Given the description of an element on the screen output the (x, y) to click on. 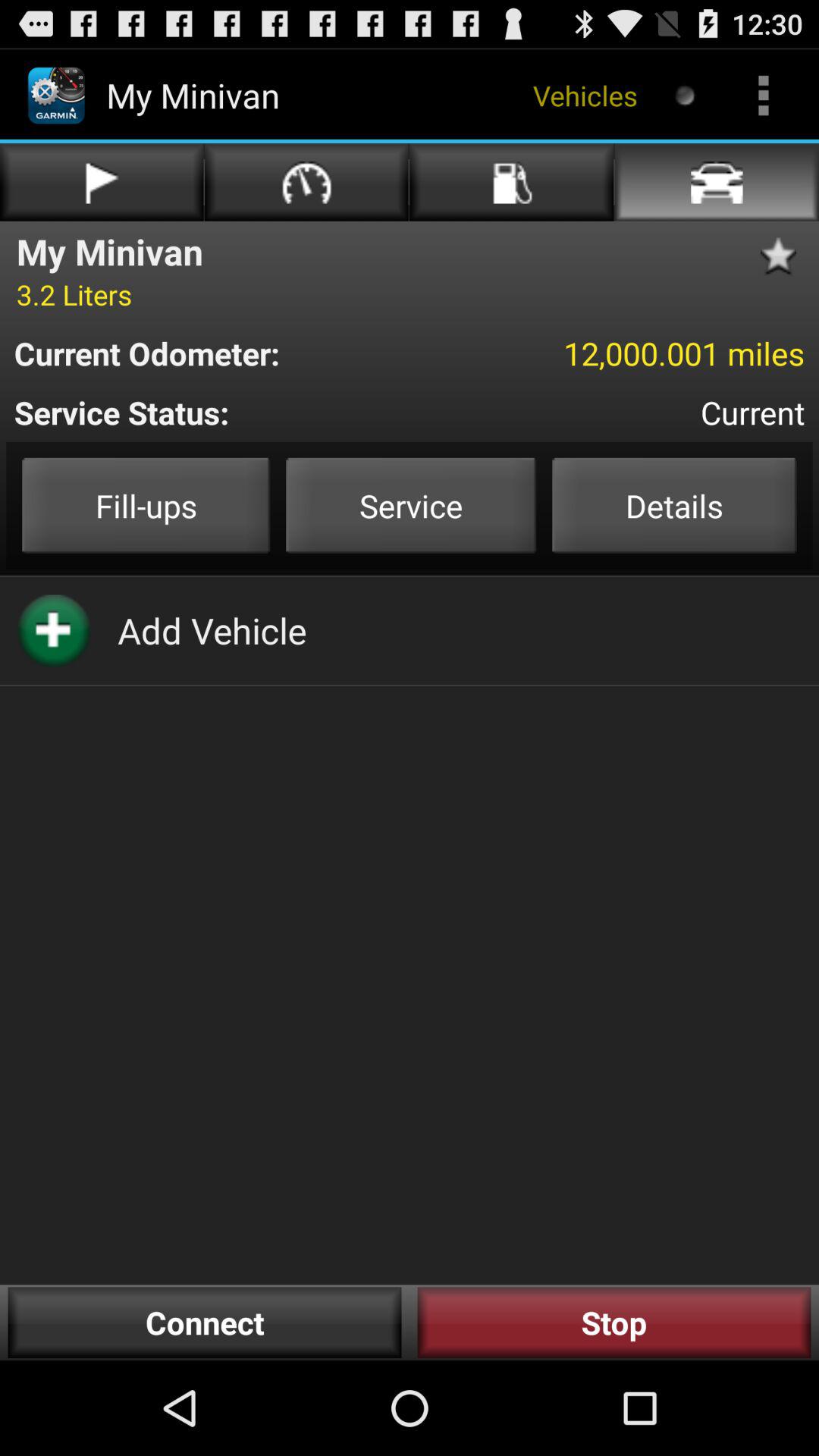
star as favorite (783, 256)
